Given the description of an element on the screen output the (x, y) to click on. 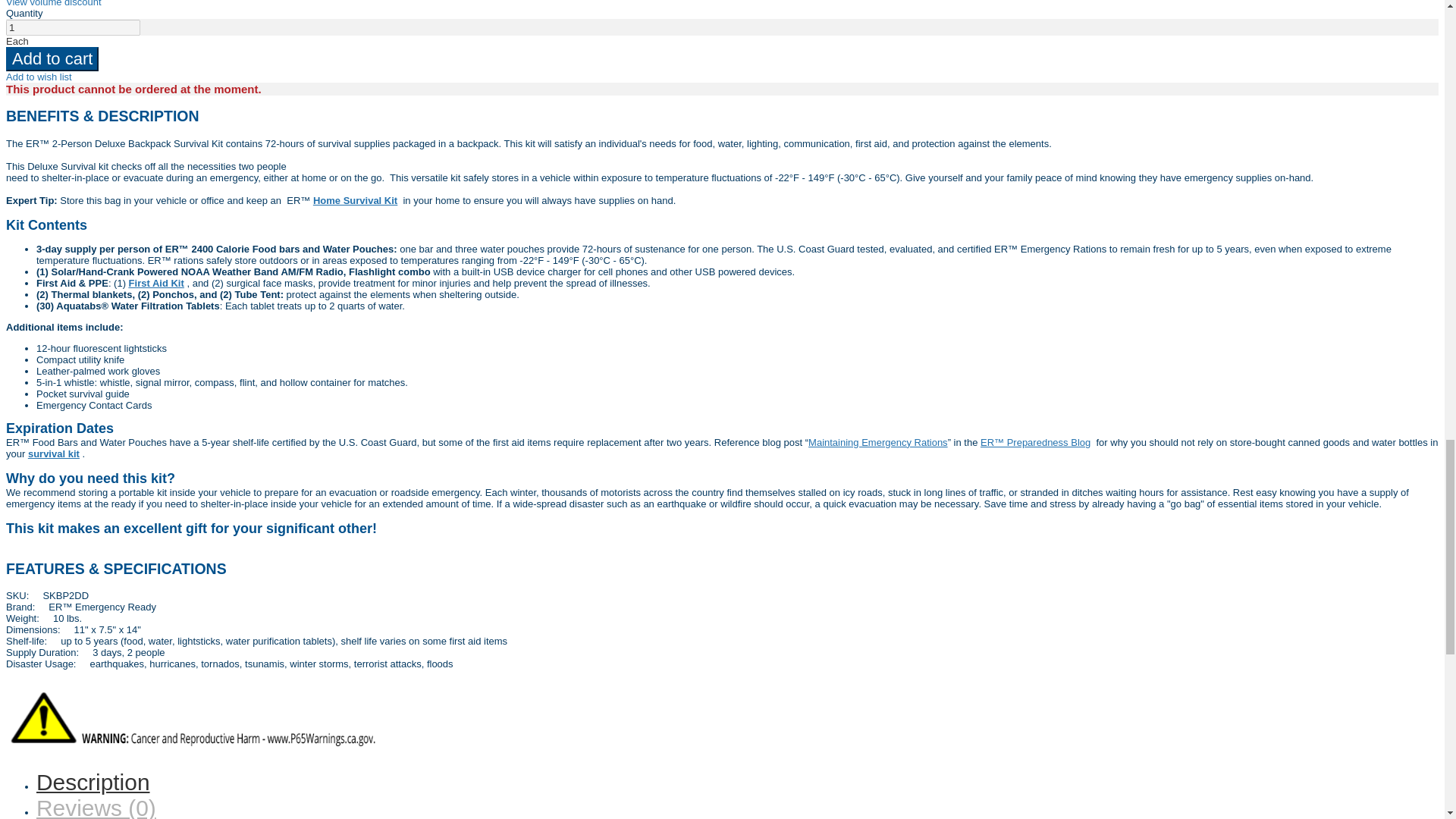
1 (72, 27)
Add to wish list (38, 76)
Add to cart (52, 58)
